Given the description of an element on the screen output the (x, y) to click on. 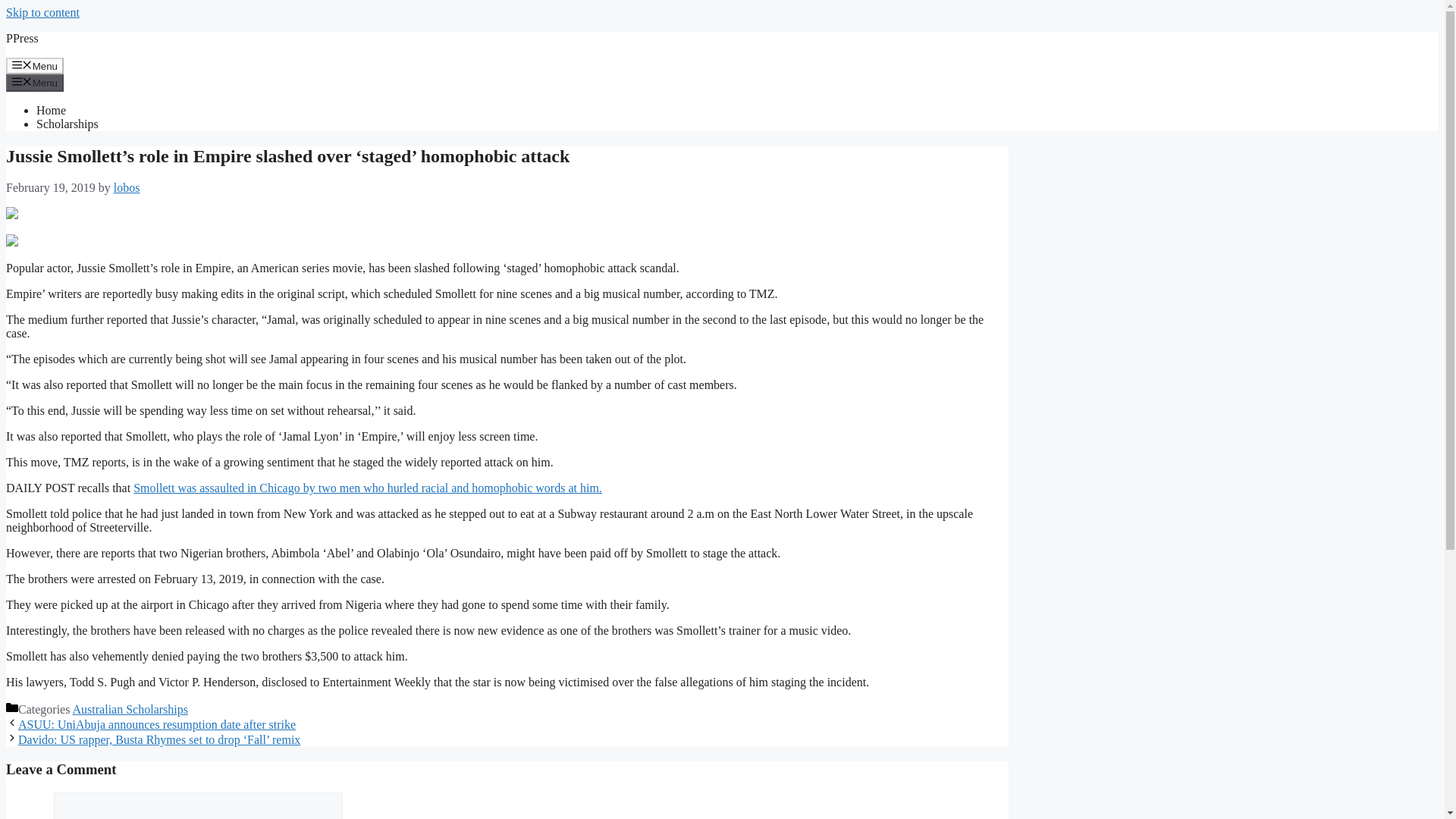
Home (50, 110)
Scholarships (67, 123)
Menu (34, 65)
PPress (22, 38)
Australian Scholarships (129, 708)
Skip to content (42, 11)
lobos (126, 187)
ASUU: UniAbuja announces resumption date after strike (156, 724)
View all posts by lobos (126, 187)
Menu (34, 82)
